Given the description of an element on the screen output the (x, y) to click on. 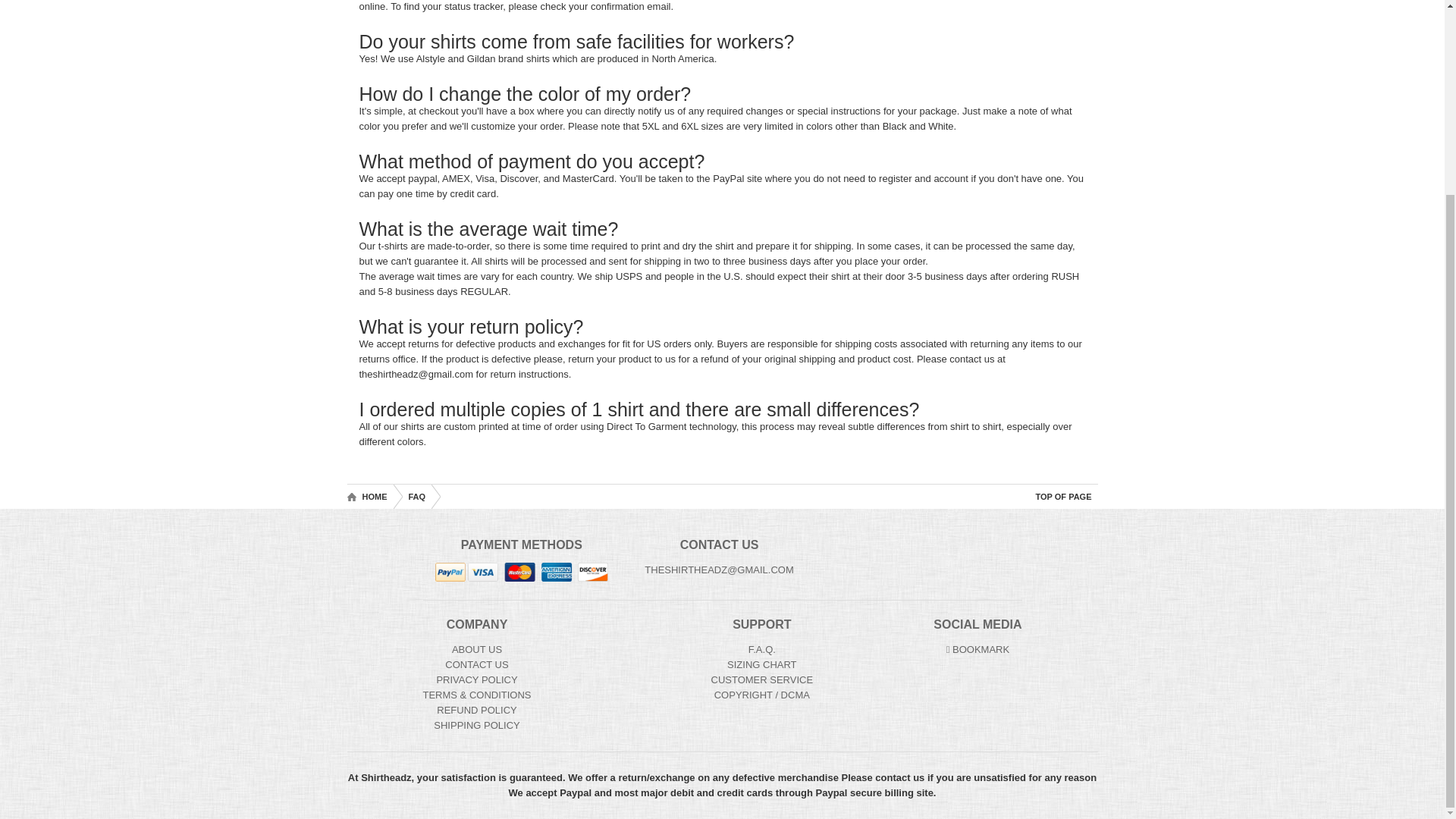
ABOUT US (476, 649)
SIZING CHART (761, 664)
TOP OF PAGE (1063, 496)
HOME (370, 496)
F.A.Q. (762, 649)
SHIPPING POLICY (476, 725)
CONTACT US (476, 664)
FAQ (415, 496)
REFUND POLICY (476, 709)
PRIVACY POLICY (475, 679)
BOOKMARK (978, 649)
CUSTOMER SERVICE (762, 679)
